Given the description of an element on the screen output the (x, y) to click on. 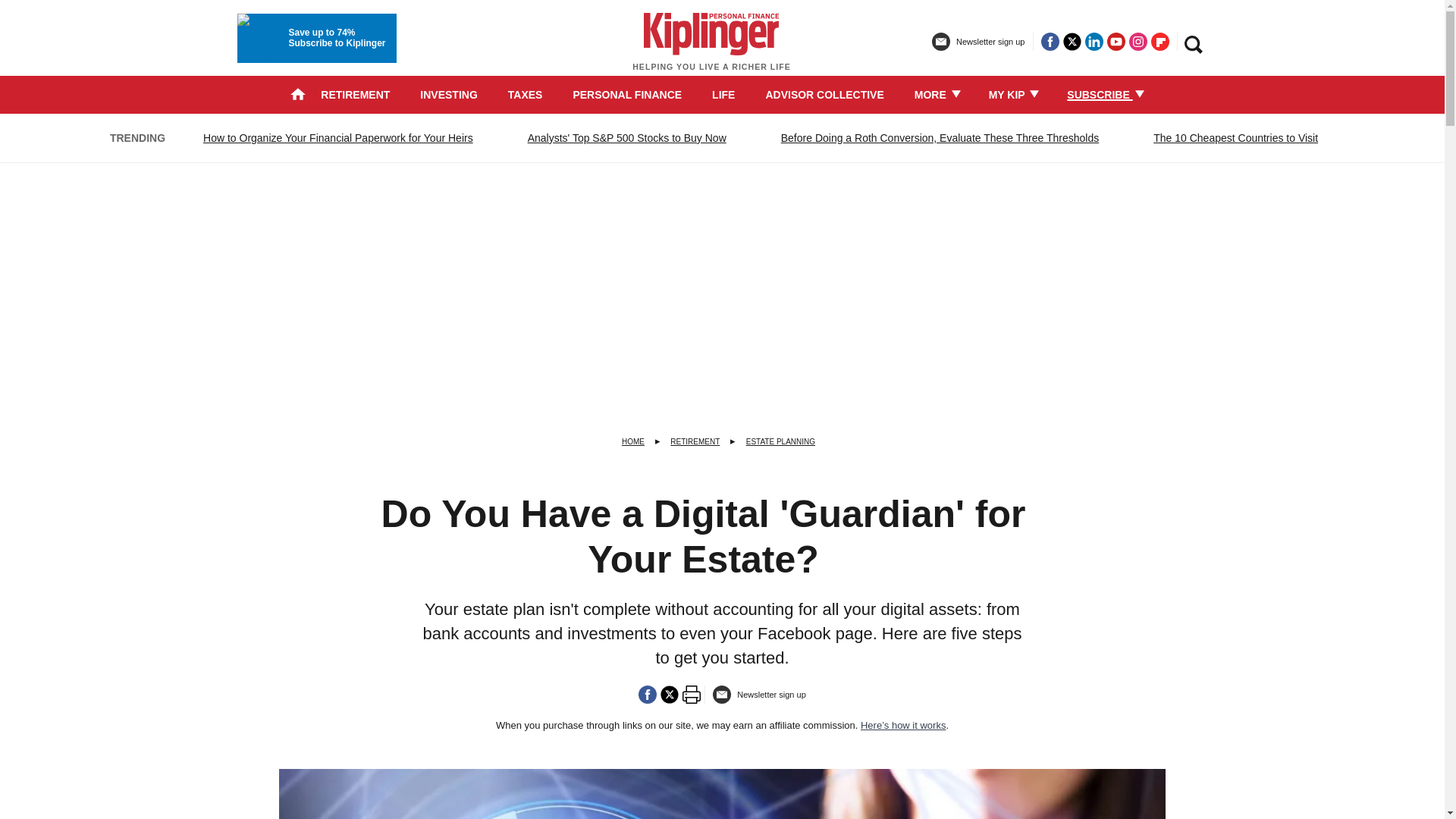
TAXES (525, 94)
PERSONAL FINANCE (626, 94)
RETIREMENT (355, 94)
ADVISOR COLLECTIVE (824, 94)
LIFE (723, 94)
HELPING YOU LIVE A RICHER LIFE (710, 48)
INVESTING (448, 94)
